Given the description of an element on the screen output the (x, y) to click on. 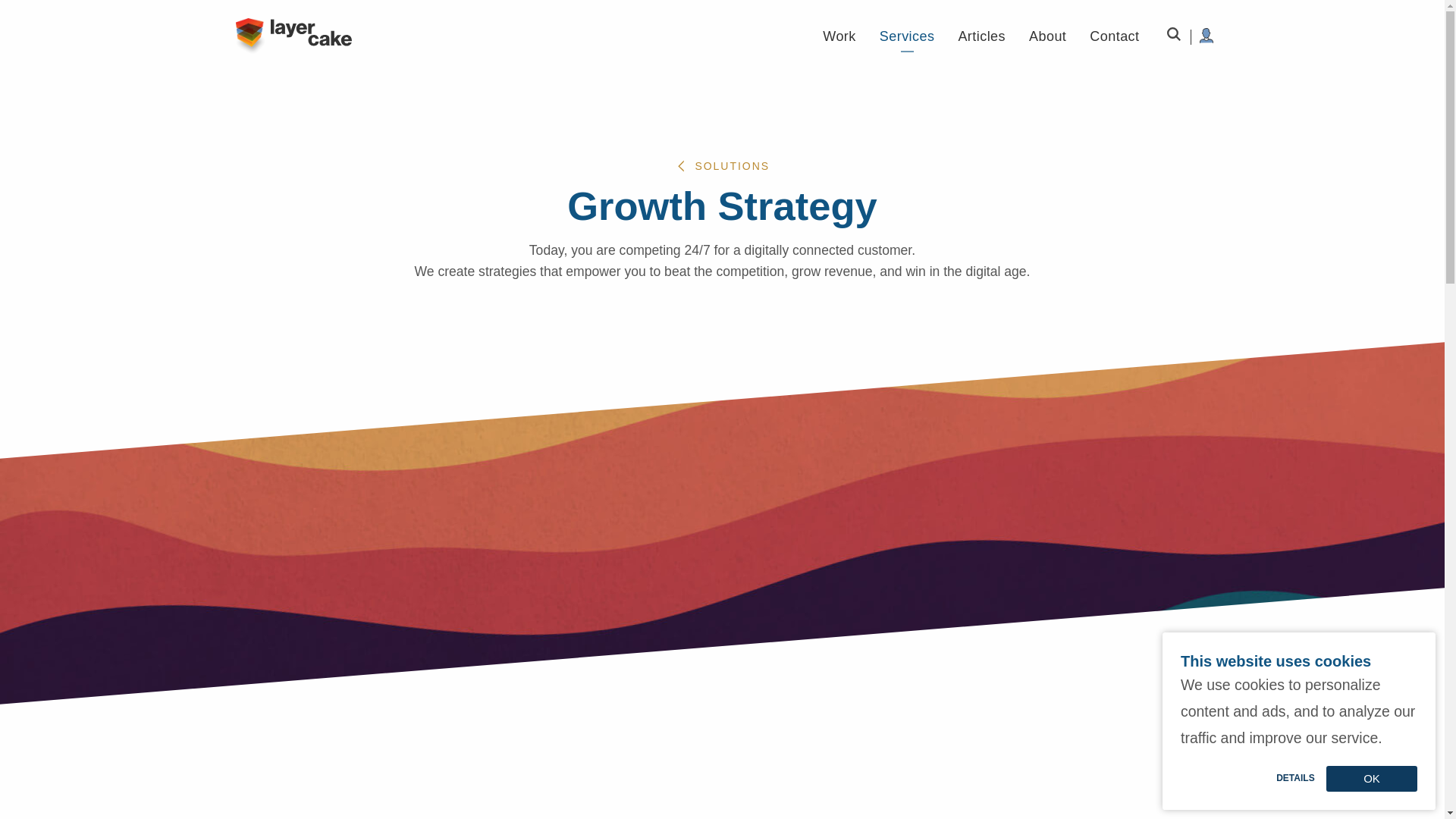
Articles (982, 36)
Work (839, 36)
Services (906, 36)
OK (1371, 778)
SOLUTIONS (722, 166)
DETAILS (1295, 777)
Contact (1113, 36)
About (1047, 36)
